Given the description of an element on the screen output the (x, y) to click on. 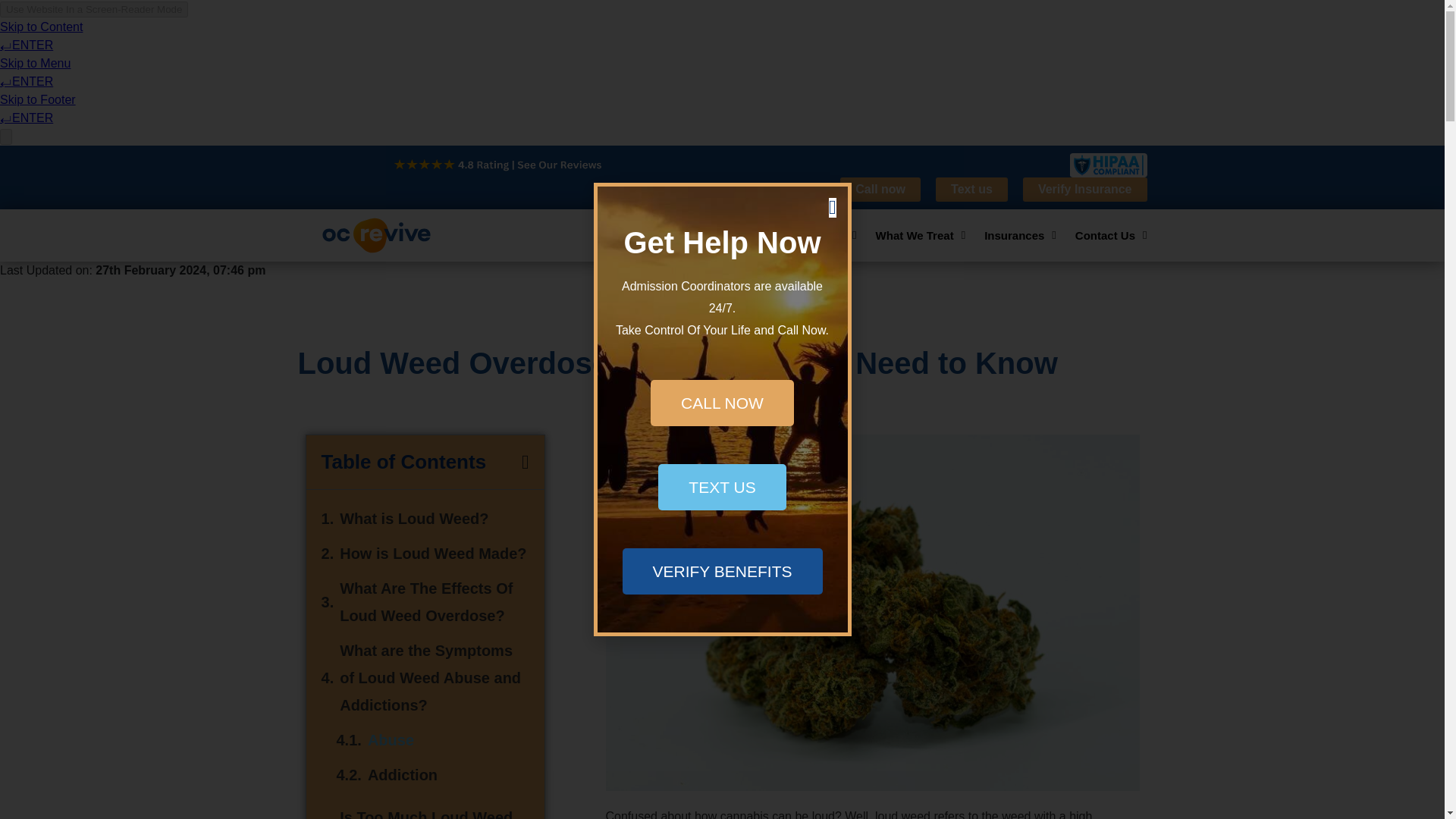
Levels of Care (726, 235)
Call now (880, 189)
About Us (630, 235)
Treatment (823, 235)
Text us (971, 189)
Verify Insurance (1085, 189)
